Given the description of an element on the screen output the (x, y) to click on. 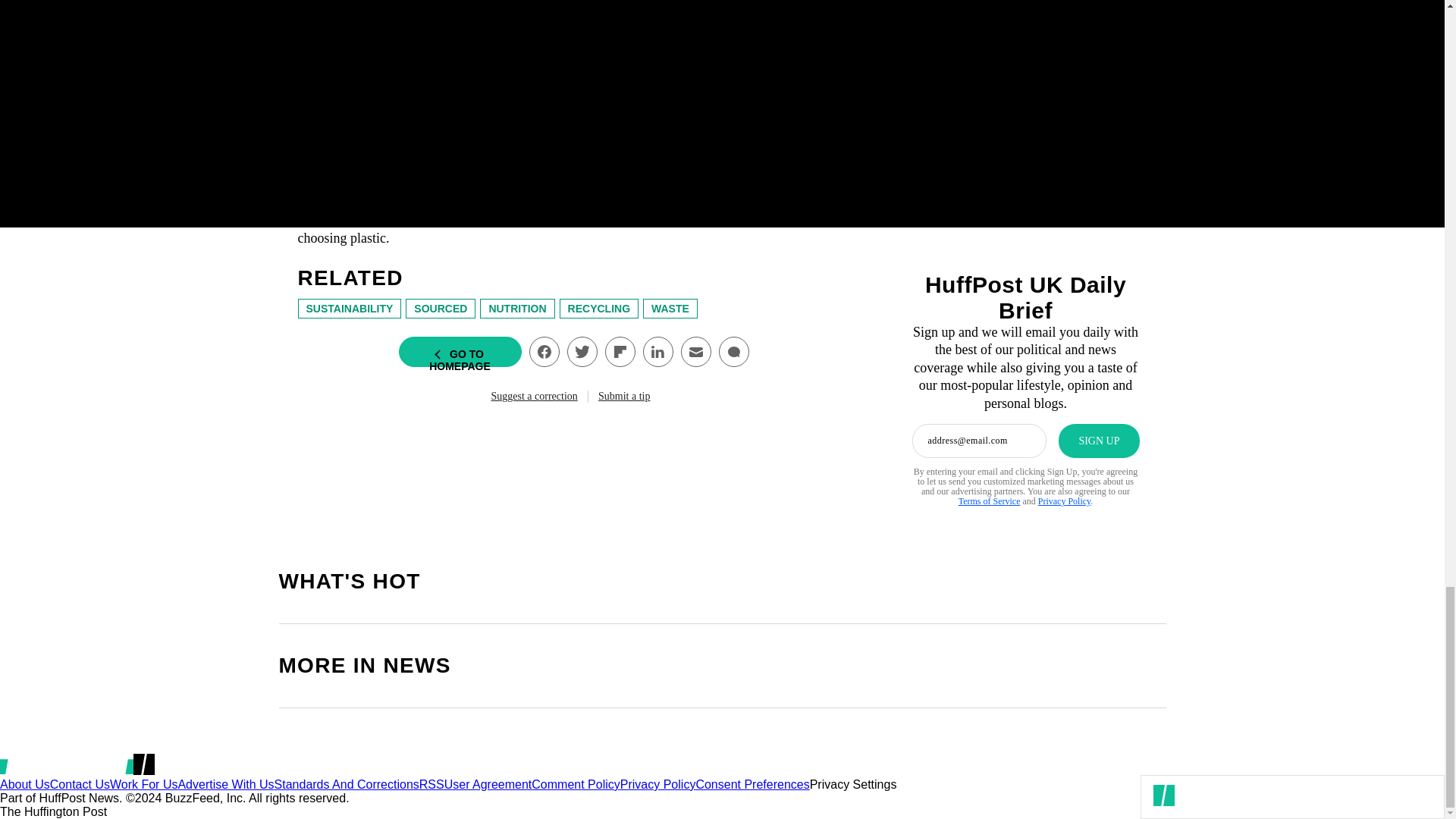
SIGN UP (1098, 440)
